Given the description of an element on the screen output the (x, y) to click on. 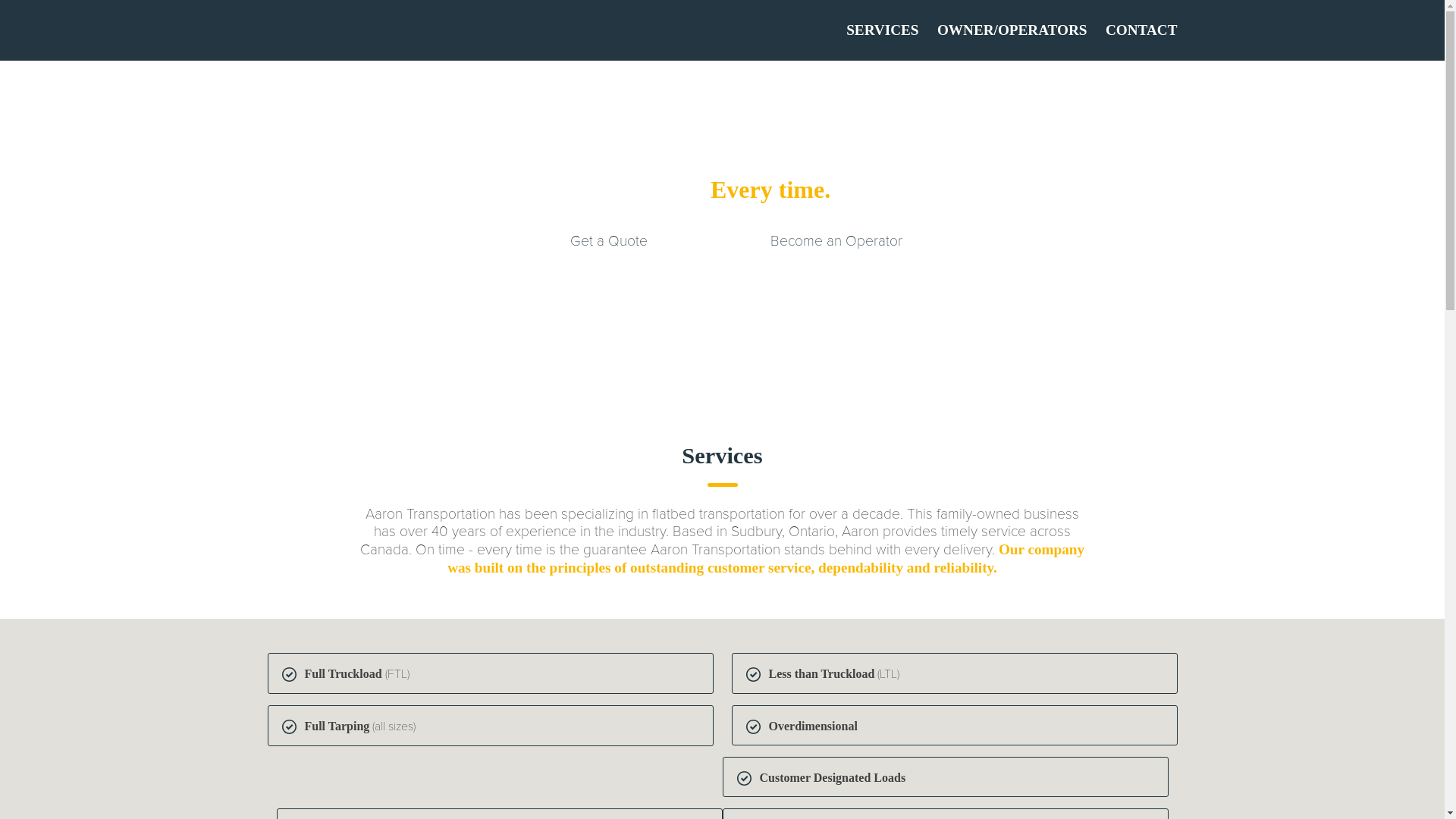
Become an Operator Element type: text (835, 240)
Get a Quote Element type: text (608, 240)
CONTACT Element type: text (1133, 30)
SERVICES Element type: text (874, 30)
OWNER/OPERATORS Element type: text (1004, 30)
